Given the description of an element on the screen output the (x, y) to click on. 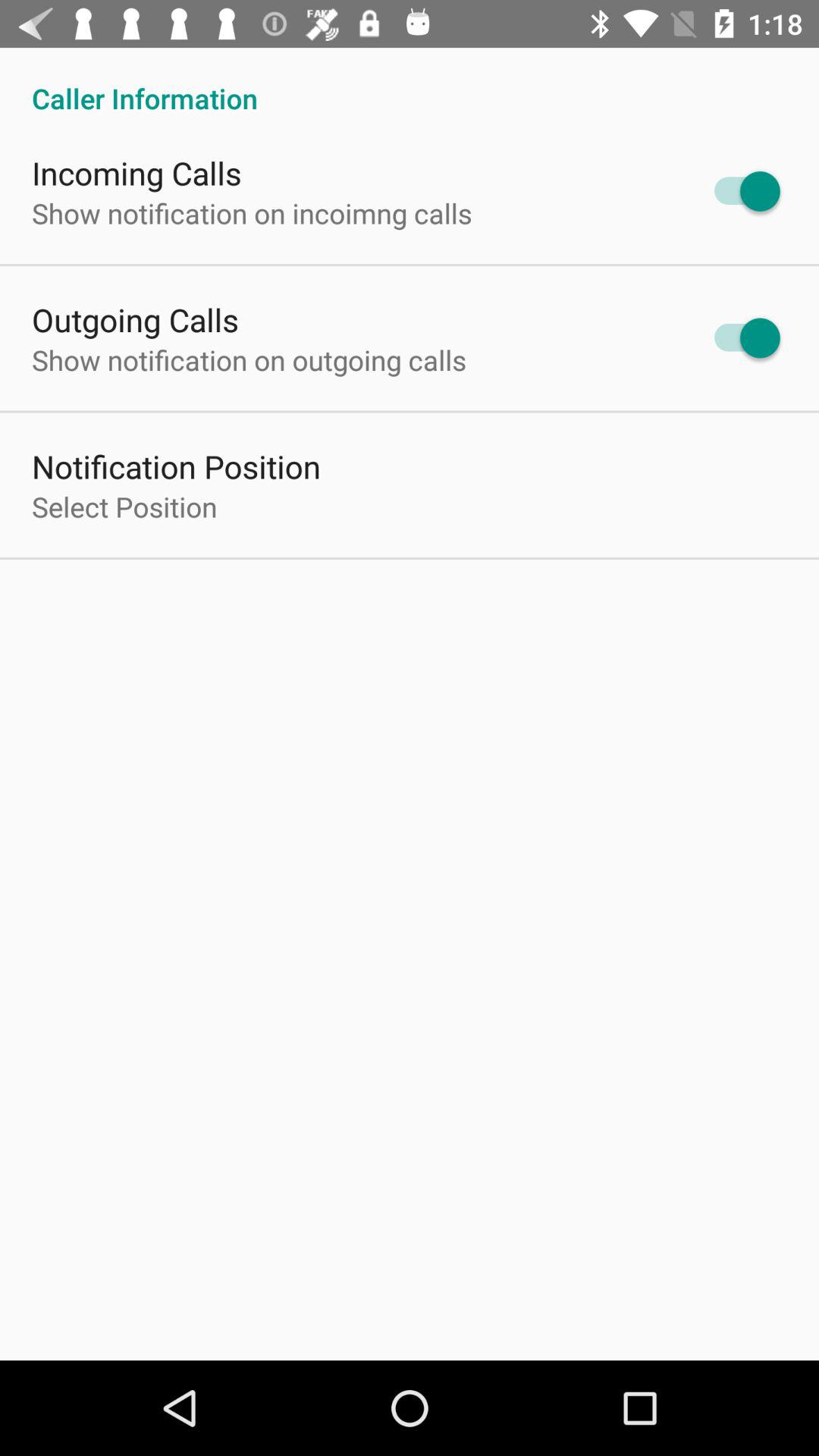
tap app above select position app (175, 465)
